Given the description of an element on the screen output the (x, y) to click on. 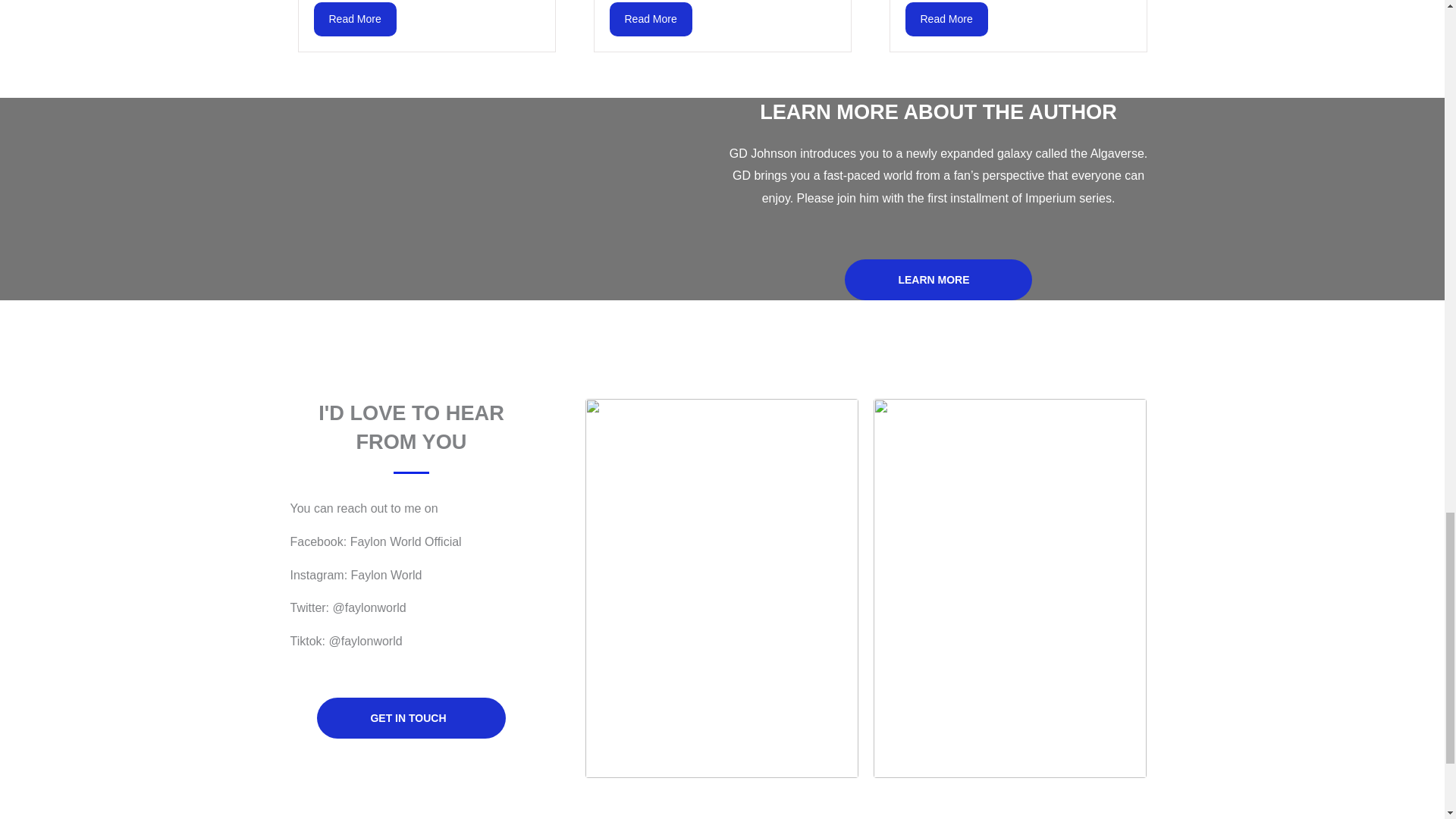
Read More (355, 18)
LEARN MORE ABOUT THE AUTHOR (938, 111)
GET IN TOUCH (411, 717)
Read More (651, 18)
LEARN MORE (937, 279)
Read More (946, 18)
